Given the description of an element on the screen output the (x, y) to click on. 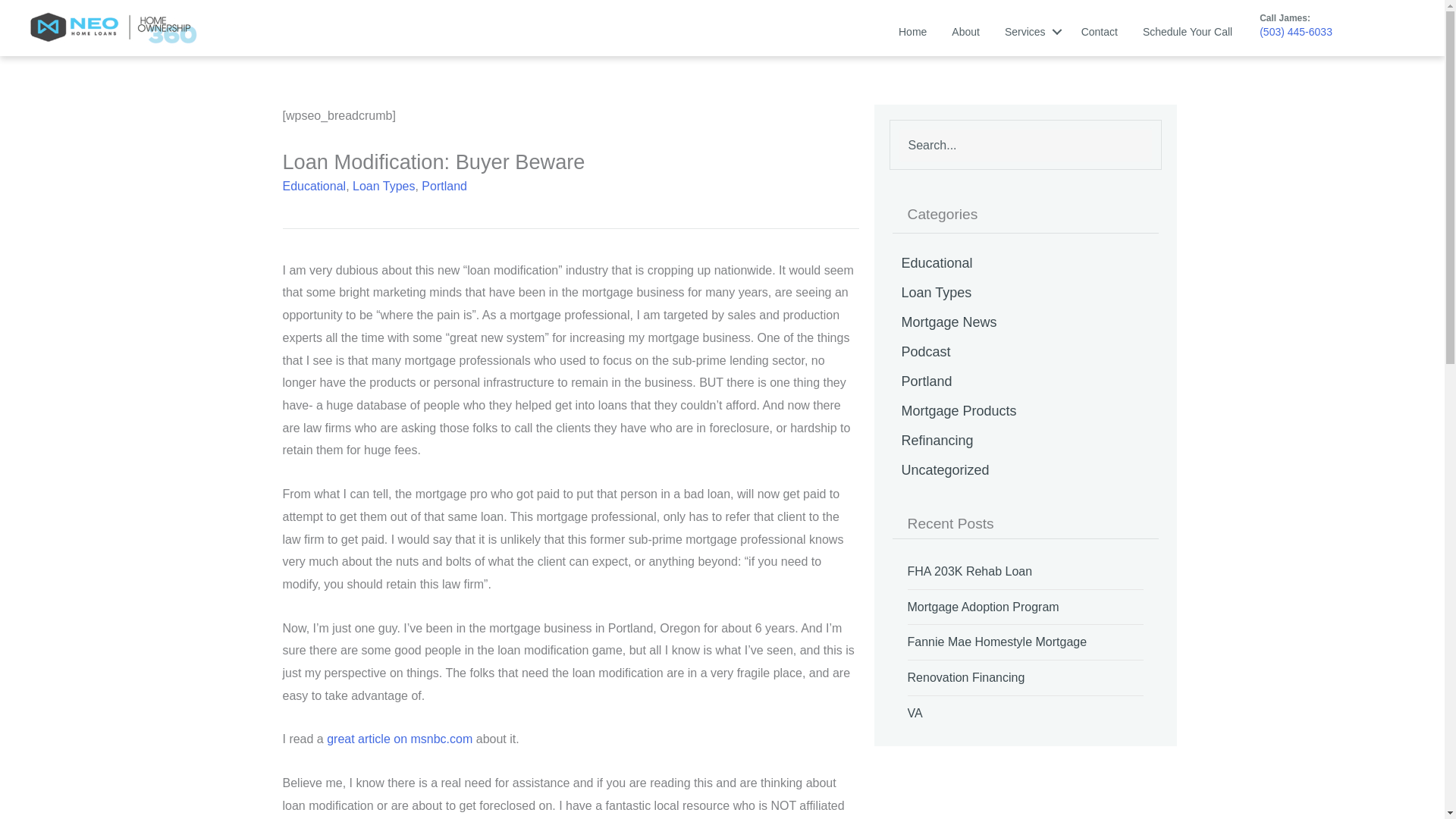
Portland (1025, 380)
Podcast (1025, 351)
Schedule Your Call (1187, 31)
Renovation Financing (966, 677)
Loan Types (383, 185)
Mortgage Adoption Program (983, 606)
Uncategorized (1025, 469)
Services (1030, 31)
Mortgage News (1025, 321)
Portland (444, 185)
